Given the description of an element on the screen output the (x, y) to click on. 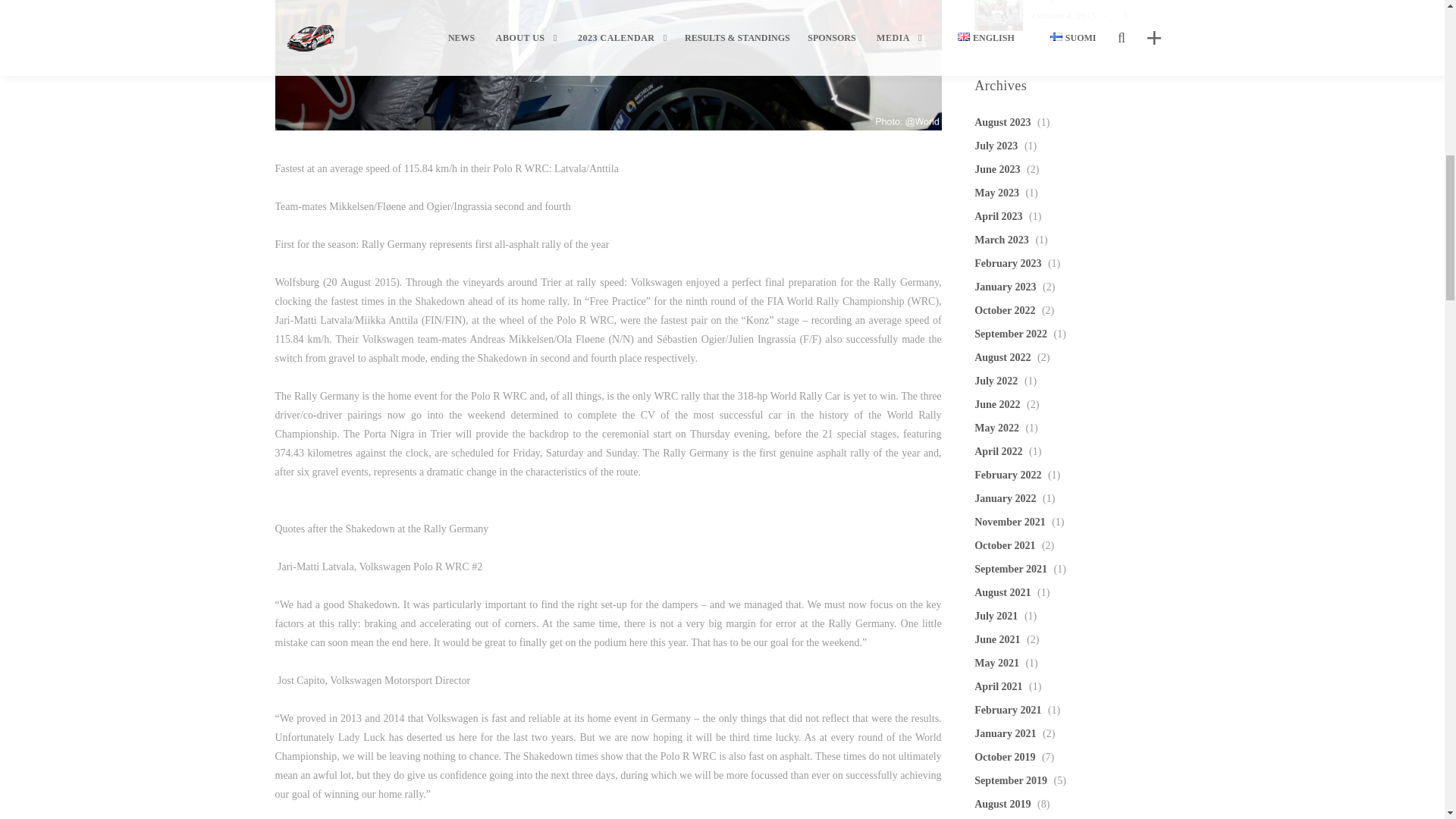
Like (1118, 15)
